Given the description of an element on the screen output the (x, y) to click on. 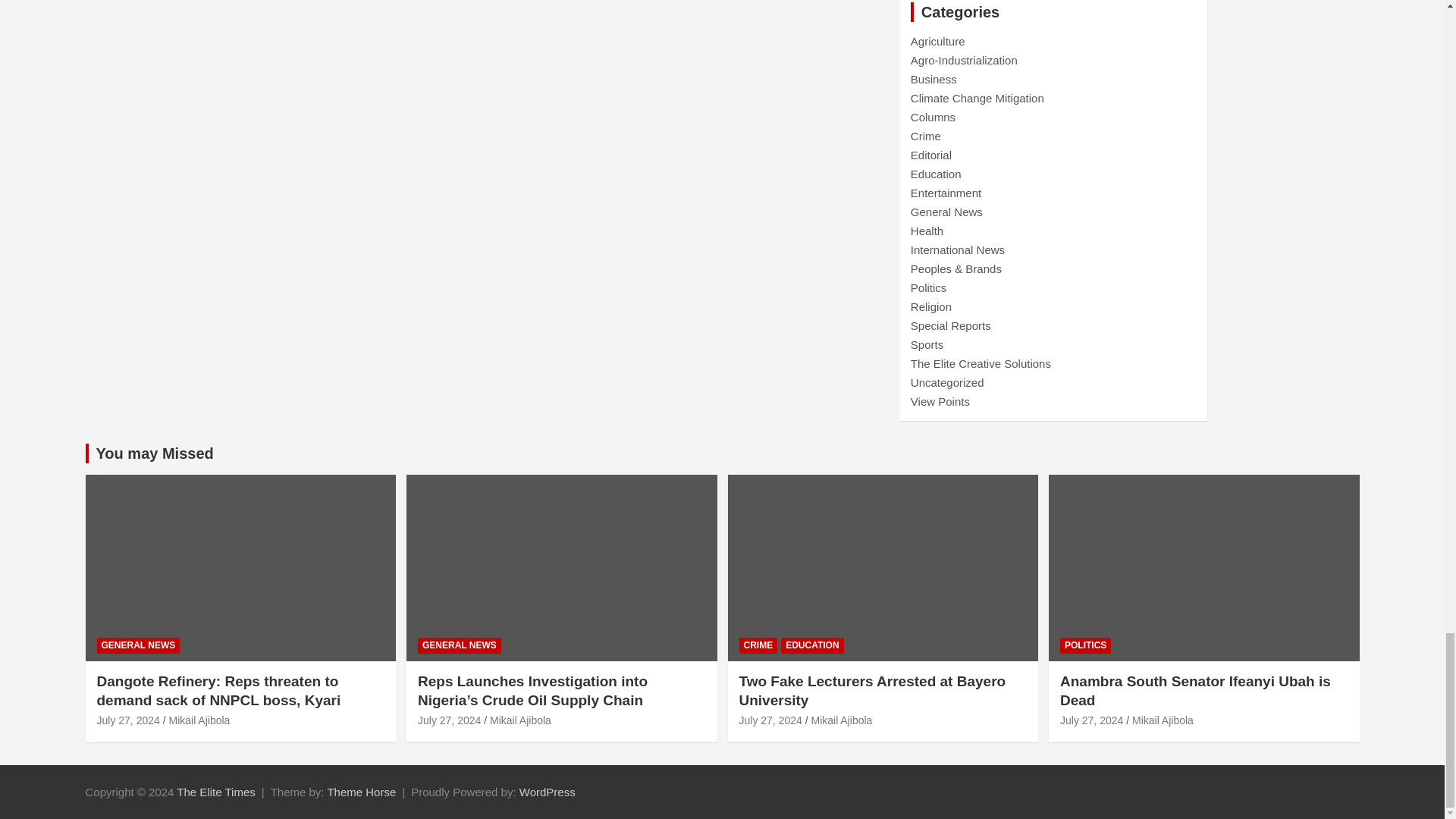
Anambra South Senator Ifeanyi Ubah is Dead (1090, 720)
WordPress (547, 791)
Two Fake Lecturers Arrested at Bayero University (770, 720)
Theme Horse (361, 791)
The Elite Times (215, 791)
